Given the description of an element on the screen output the (x, y) to click on. 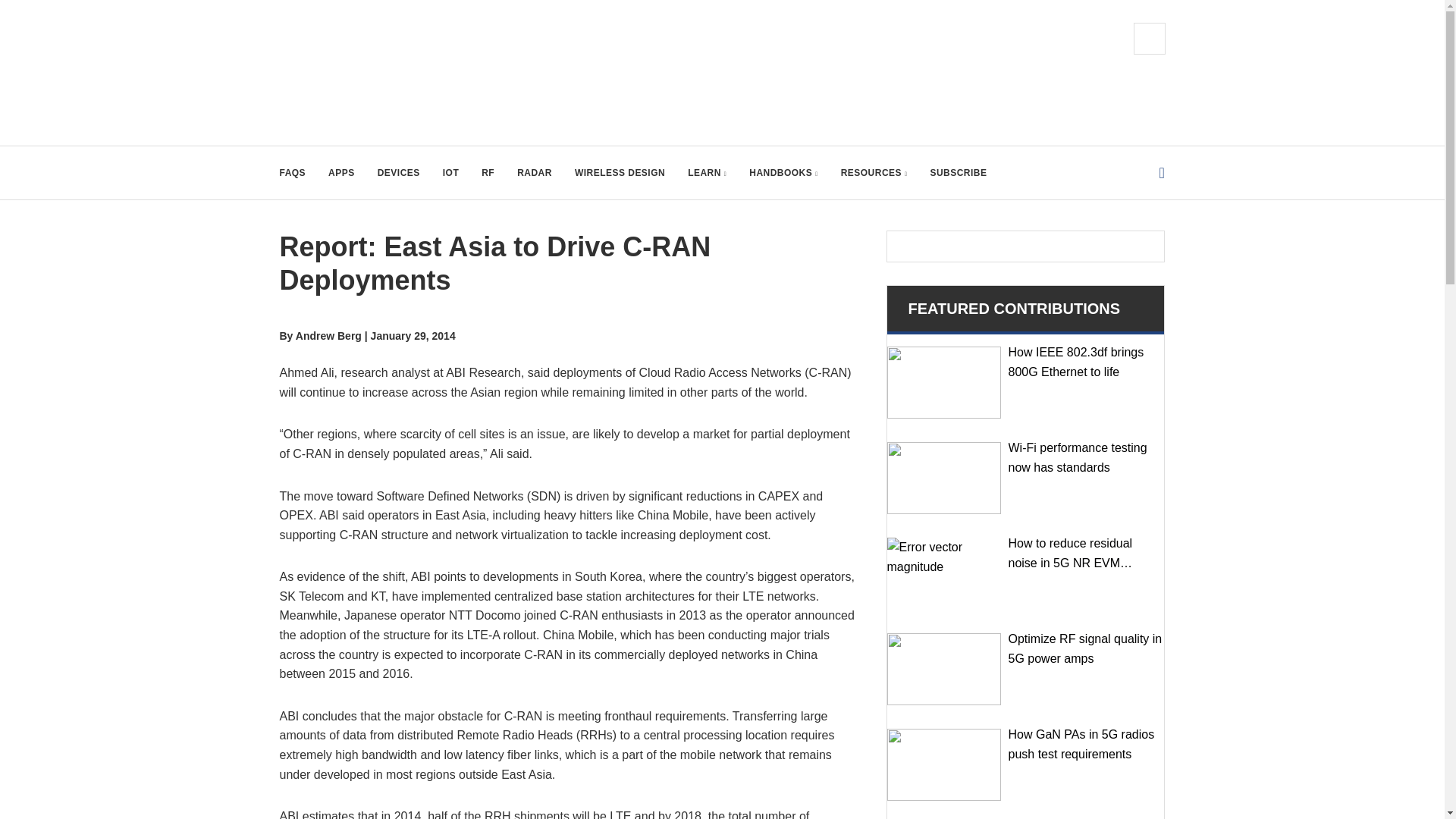
SUBSCRIBE (958, 172)
Andrew Berg (328, 336)
How GaN PAs in 5G radios push test requirements (943, 764)
How to reduce residual noise in 5G NR EVM measurements (943, 573)
RESOURCES (874, 172)
Wi-Fi performance testing now has standards (943, 478)
Optimize RF signal quality in 5G power amps (943, 669)
HANDBOOKS (782, 172)
How IEEE 802.3df brings 800G Ethernet to life (943, 382)
WIRELESS DESIGN (620, 172)
